Given the description of an element on the screen output the (x, y) to click on. 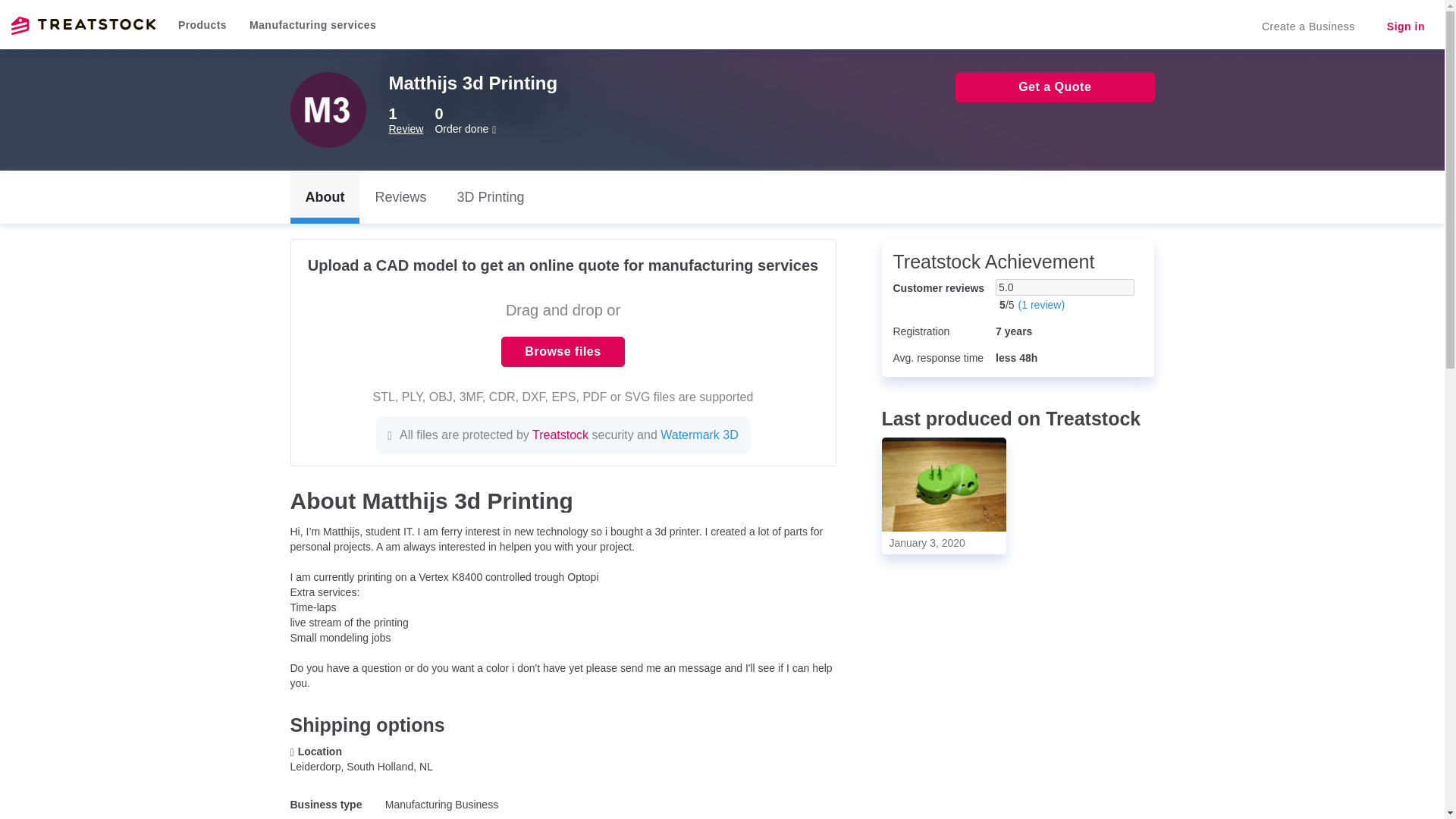
Manufacturing services (311, 24)
Sign in (1405, 26)
Create a Business (1307, 26)
Treatstock (83, 25)
5.0 (1064, 287)
Products (202, 24)
Treatstock 3D Printing Services (83, 25)
